Given the description of an element on the screen output the (x, y) to click on. 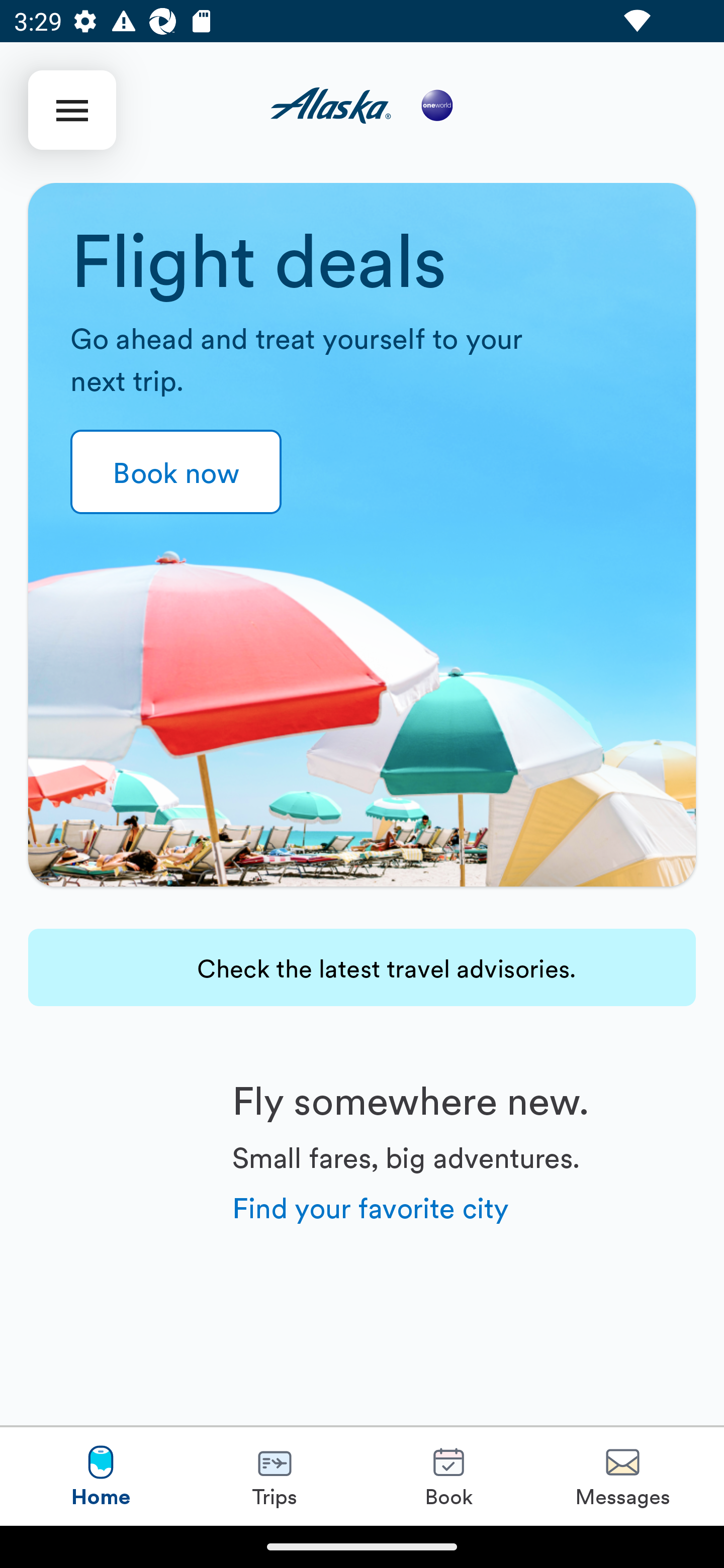
Book now (175, 471)
Check the latest travel advisories. (361, 967)
Find your favorite city (370, 1206)
Home (100, 1475)
Trips (275, 1475)
Book (448, 1475)
Messages (622, 1475)
